Given the description of an element on the screen output the (x, y) to click on. 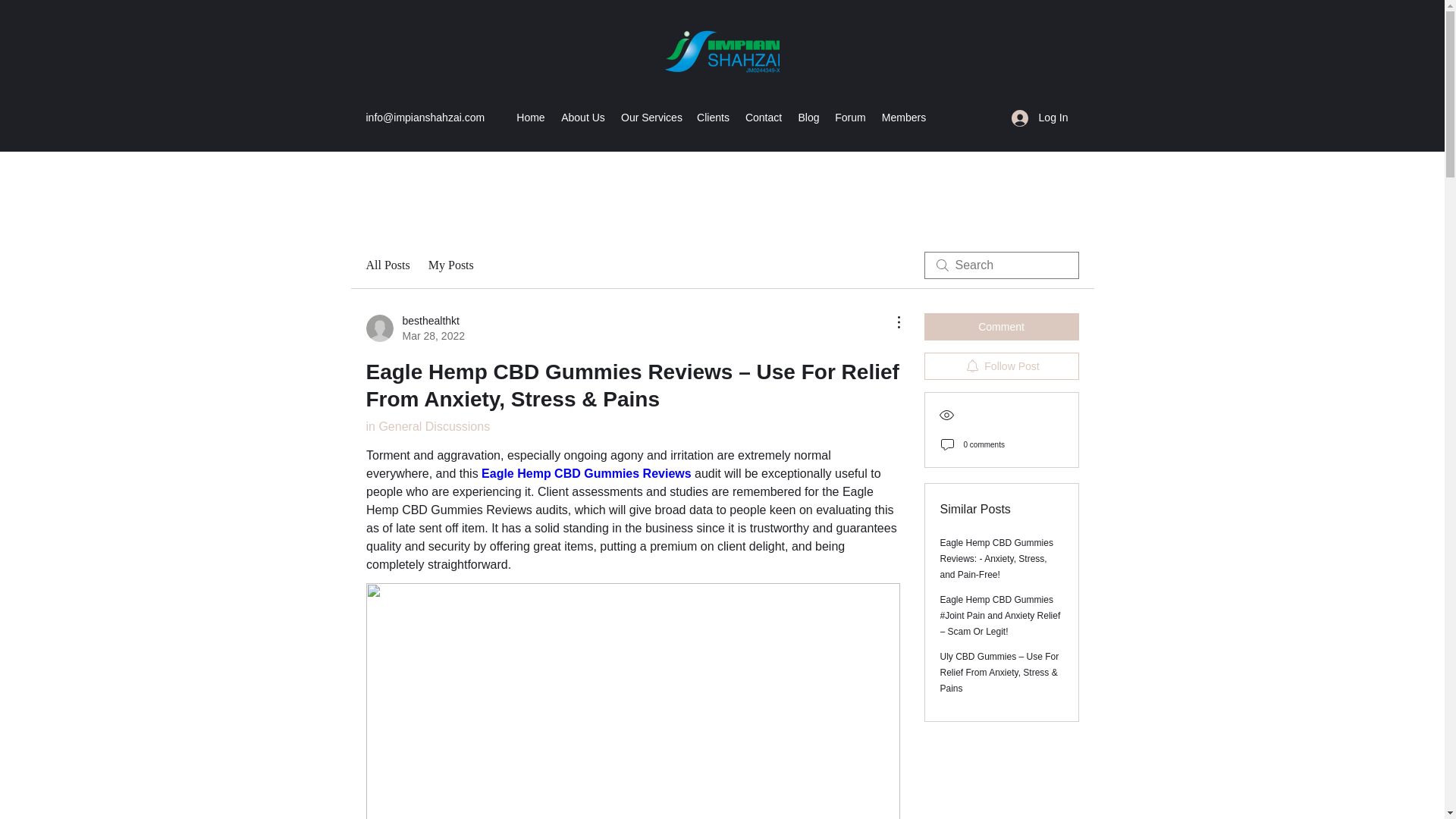
Follow Post (414, 327)
Eagle Hemp CBD Gummies Reviews (1000, 366)
About Us (586, 472)
Home (582, 117)
Members (530, 117)
Log In (903, 117)
Forum (1039, 117)
in General Discussions (850, 117)
Clients (427, 426)
My Posts (712, 117)
Contact (451, 265)
All Posts (763, 117)
Our Services (387, 265)
